Given the description of an element on the screen output the (x, y) to click on. 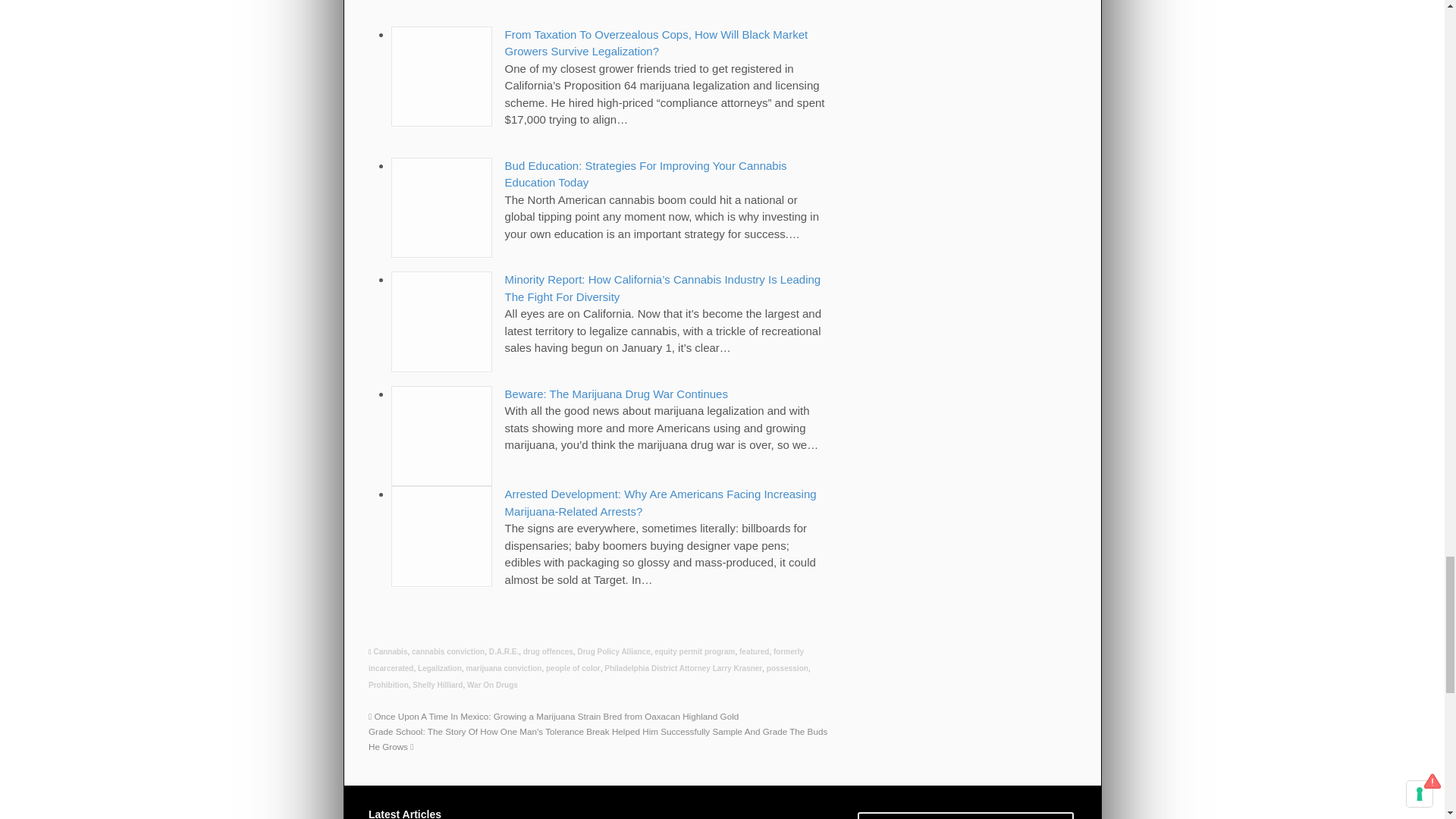
Search... (955, 816)
